Given the description of an element on the screen output the (x, y) to click on. 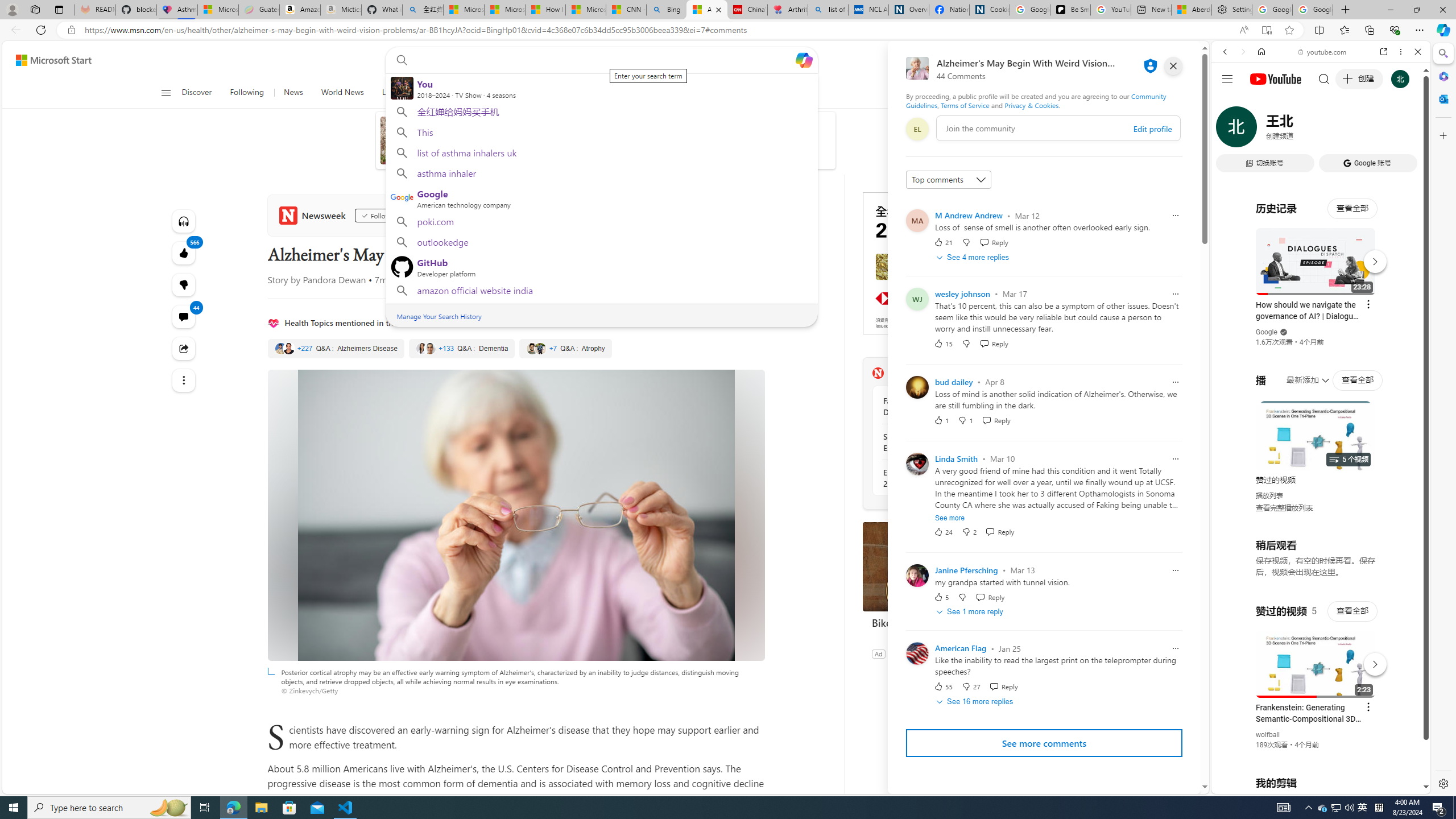
Search Filter, IMAGES (1262, 129)
CNN - MSN (625, 9)
Music (1320, 309)
566 (183, 284)
Arthritis: Ask Health Professionals (787, 9)
Web scope (1230, 102)
Bike Gurus (947, 566)
